Given the description of an element on the screen output the (x, y) to click on. 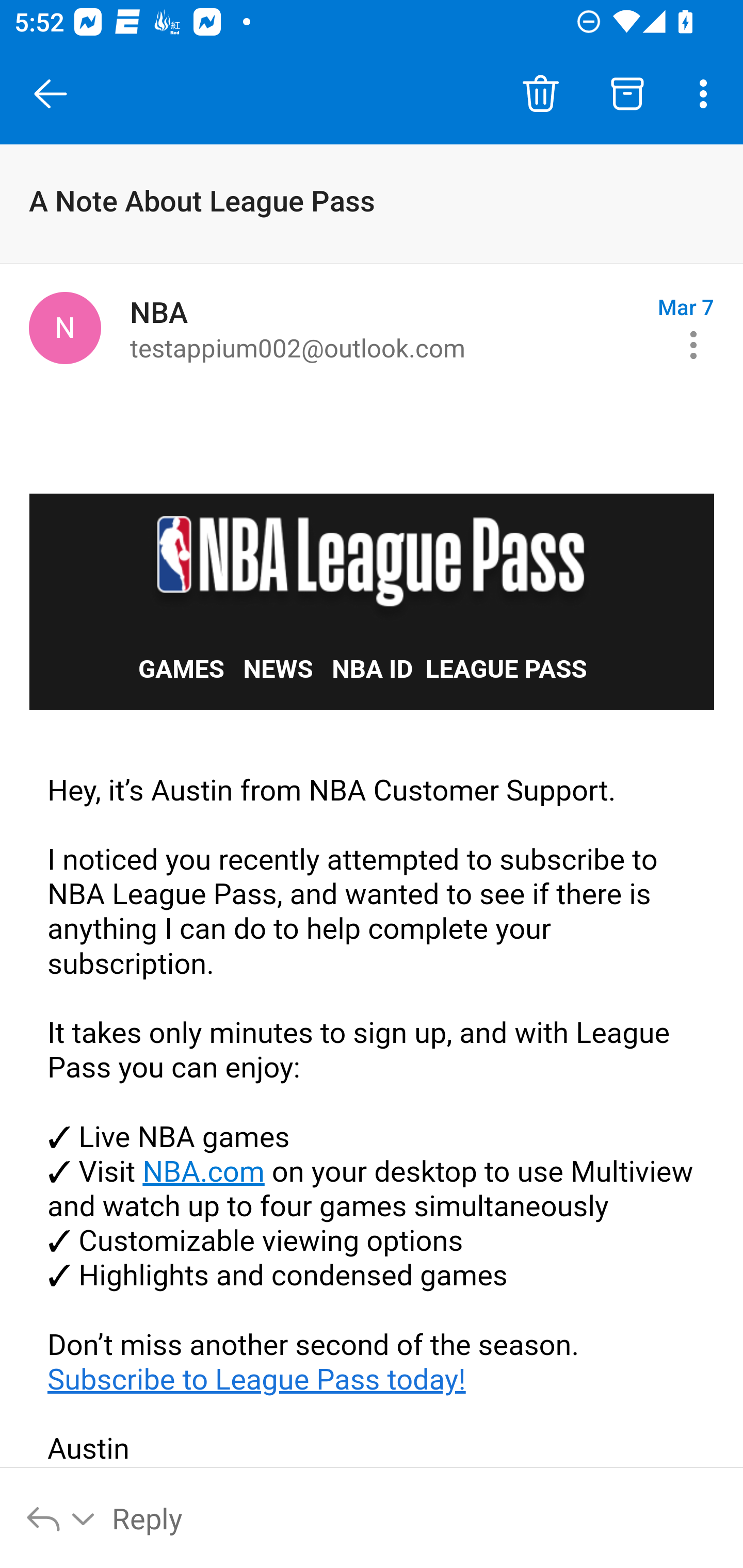
Close (50, 93)
Delete (540, 93)
Archive (626, 93)
More options (706, 93)
NBA, NBA@email.nba.com (64, 327)
NBA
to testappium002@outlook.com (386, 328)
Message actions (692, 344)
h001 (372, 559)
GAMES (181, 669)
NEWS (278, 669)
NBA ID (371, 669)
LEAGUE PASS (505, 669)
NBA‍.com (203, 1172)
Subscribe to League Pass today! (256, 1379)
Reply options (61, 1517)
